Given the description of an element on the screen output the (x, y) to click on. 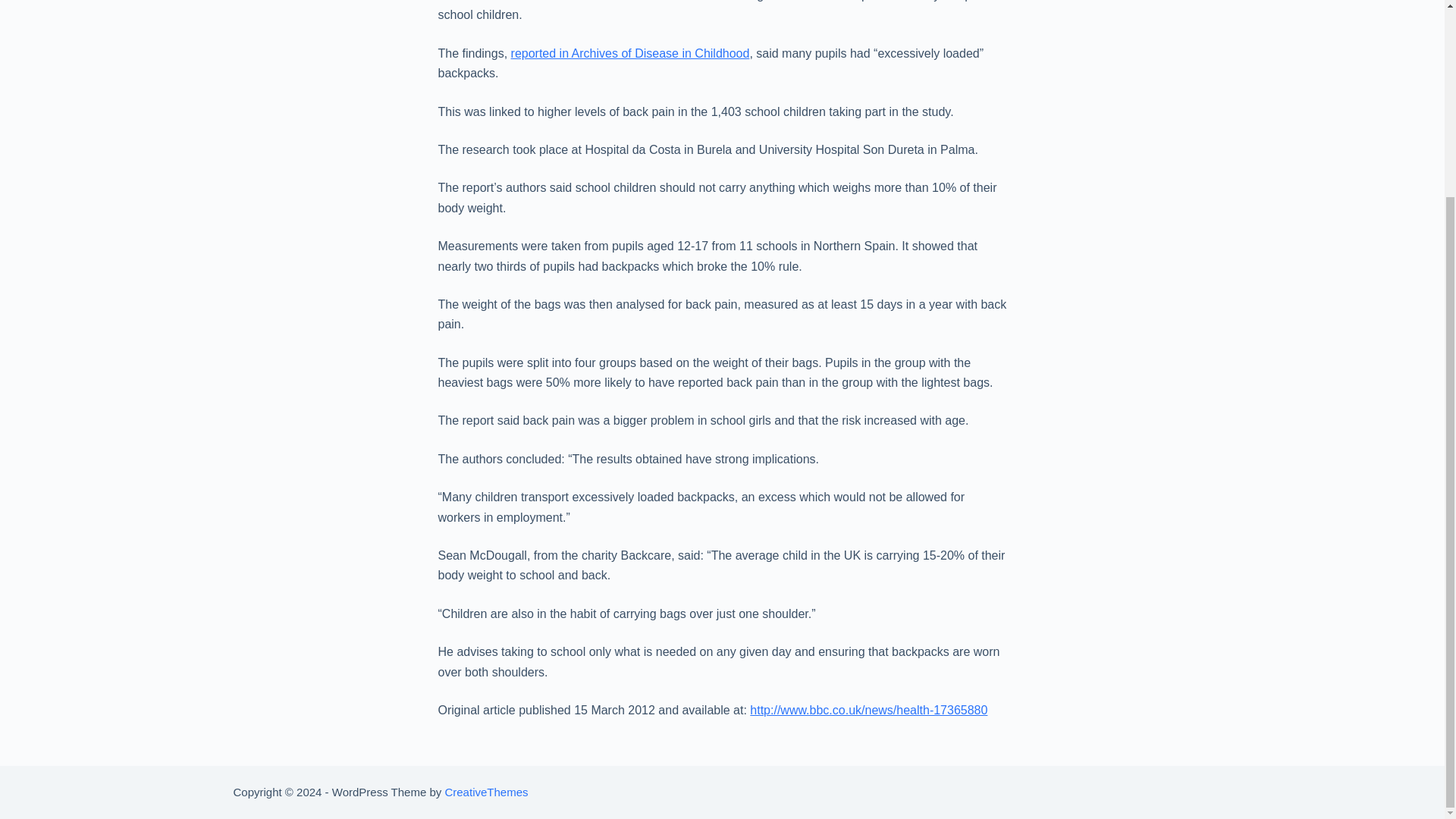
BBC news article on school bags and back pain (868, 709)
CreativeThemes (485, 791)
reported in Archives of Disease in Childhood (630, 52)
